Given the description of an element on the screen output the (x, y) to click on. 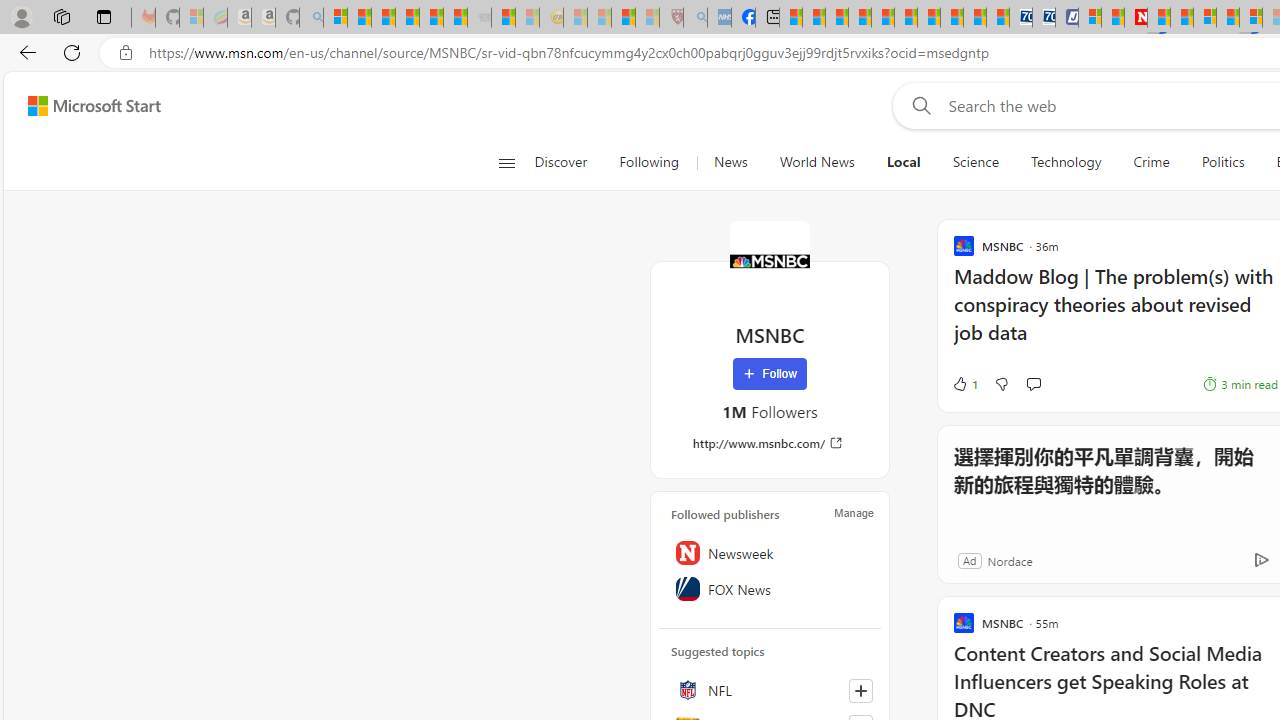
Skip to footer (82, 105)
Cheap Car Rentals - Save70.com (1020, 17)
Politics (1222, 162)
Local (903, 162)
New Report Confirms 2023 Was Record Hot | Watch (430, 17)
World News (817, 162)
Crime (1151, 162)
